Given the description of an element on the screen output the (x, y) to click on. 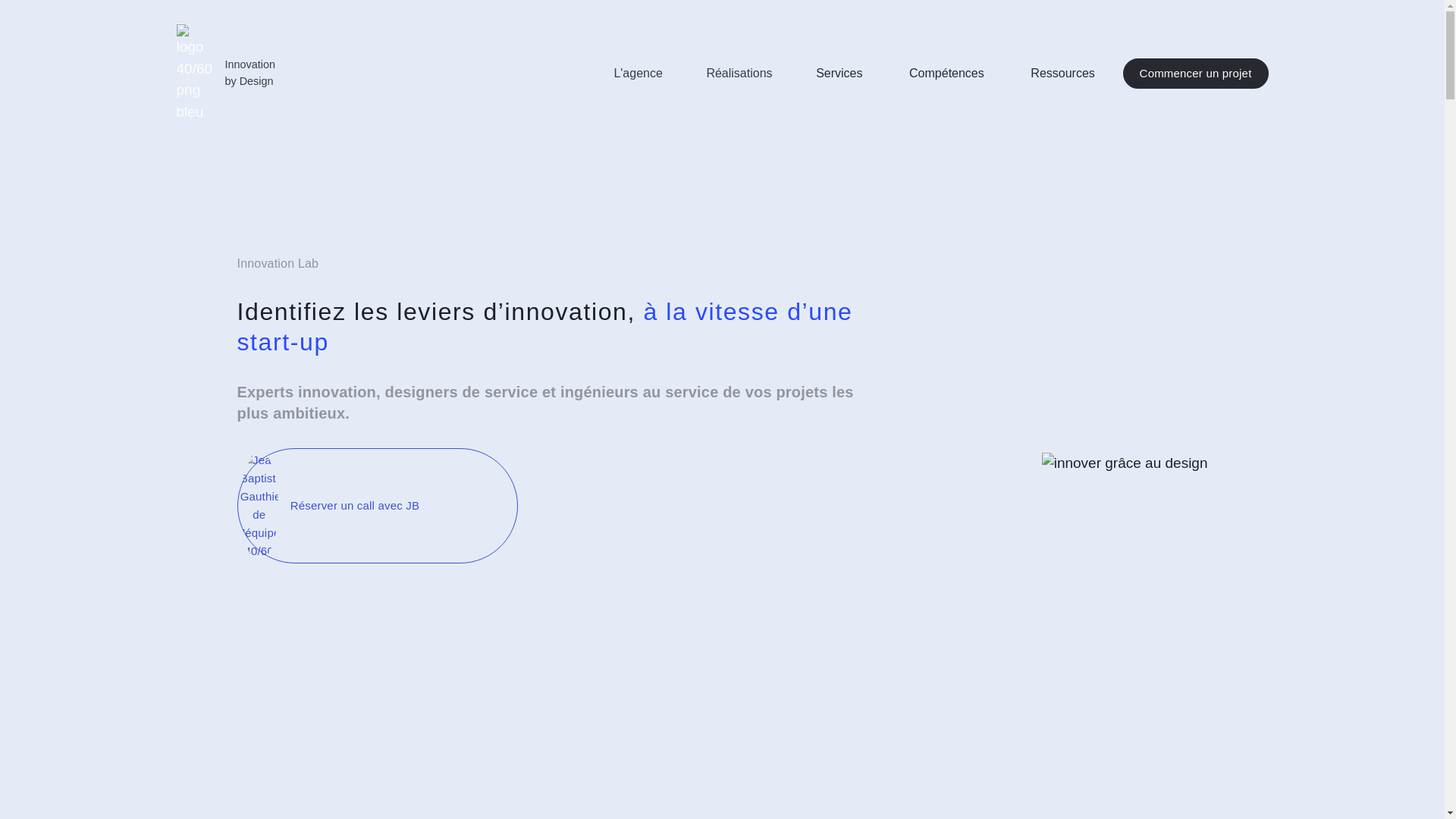
Commencer un projet Element type: text (1195, 73)
L'agence Element type: text (637, 73)
Innovation
by Design Element type: text (224, 73)
